Given the description of an element on the screen output the (x, y) to click on. 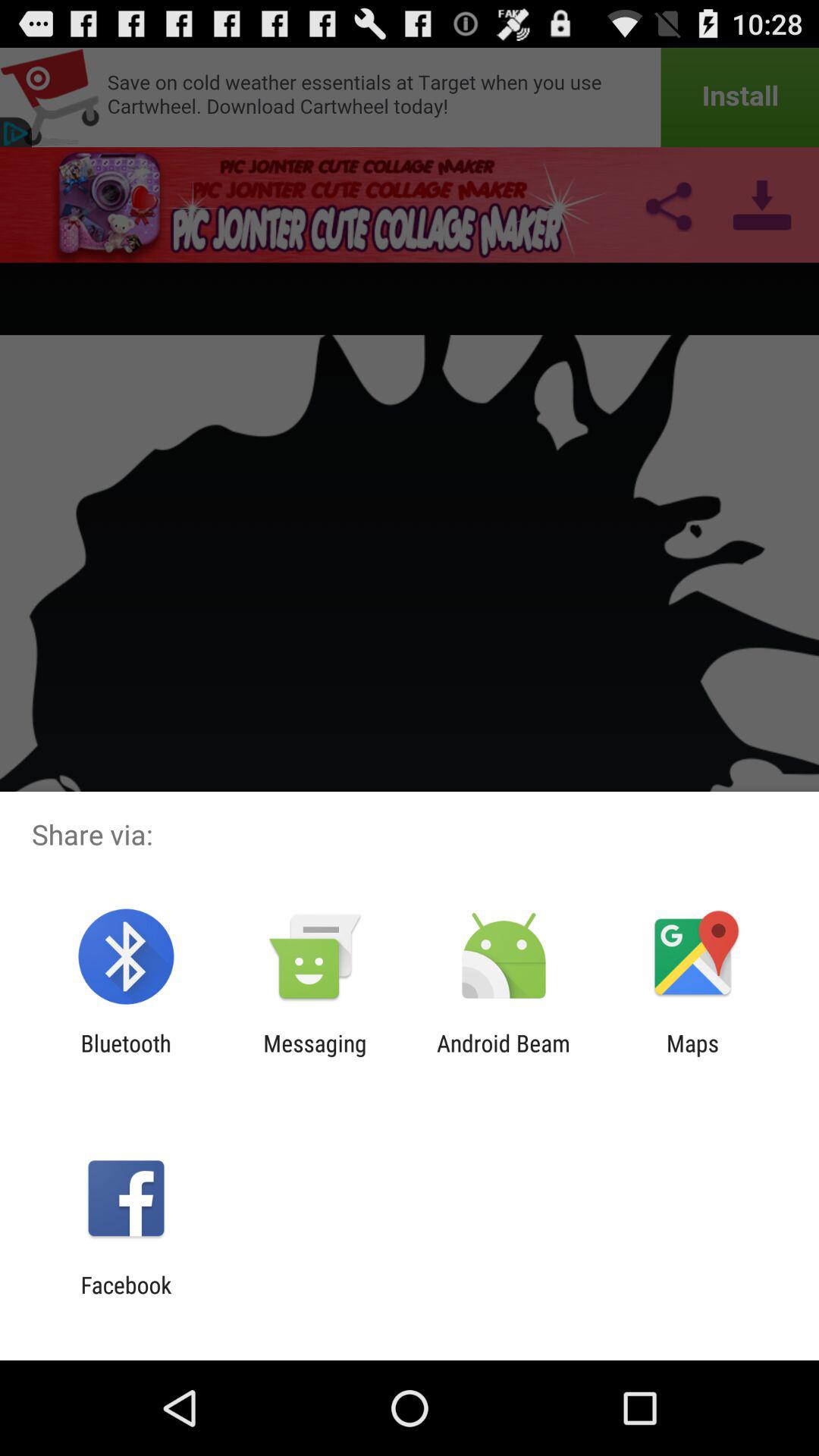
flip to the android beam icon (503, 1056)
